Given the description of an element on the screen output the (x, y) to click on. 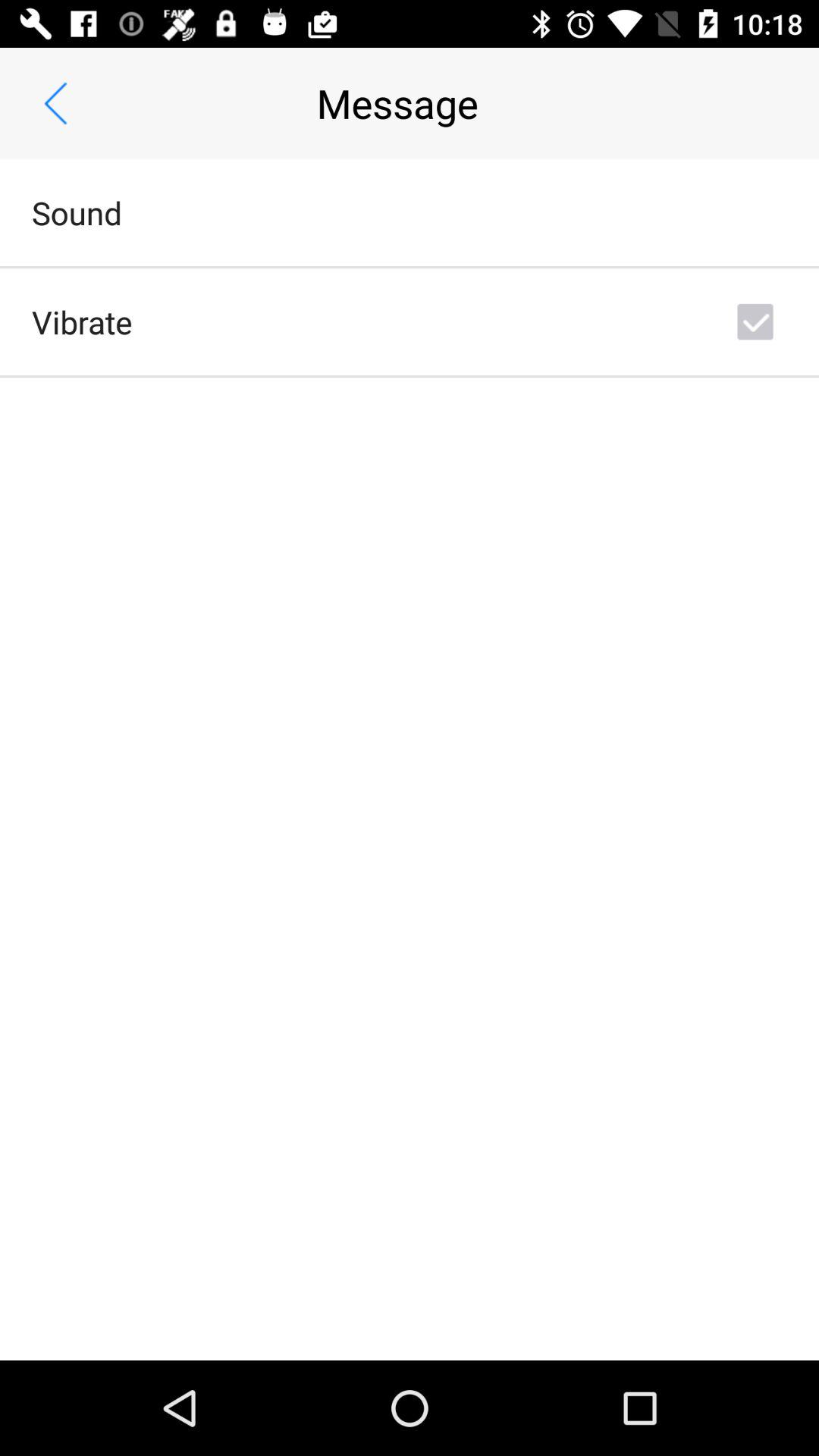
tap icon above sound item (55, 103)
